Given the description of an element on the screen output the (x, y) to click on. 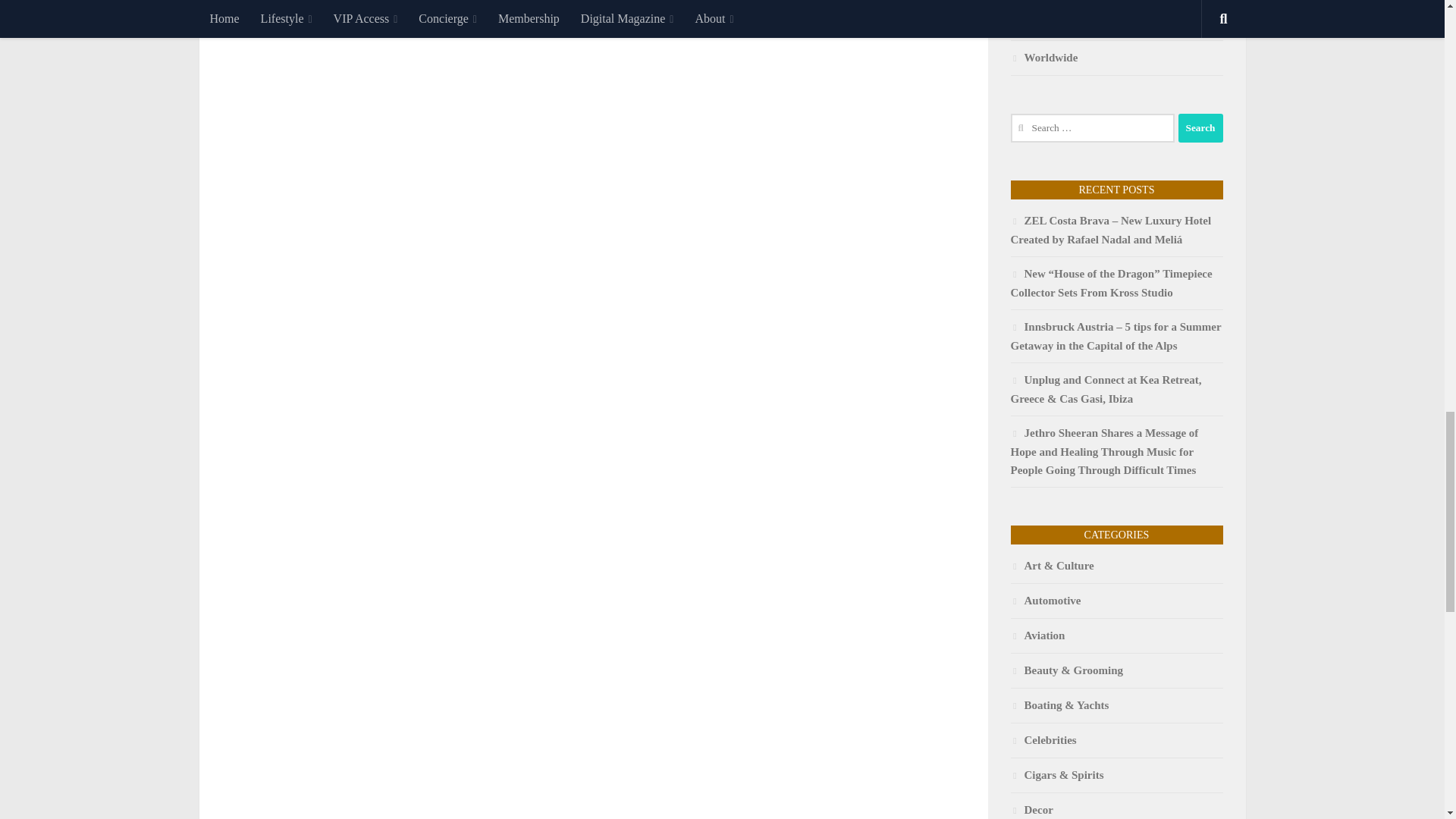
Search (1200, 127)
Search (1200, 127)
